Given the description of an element on the screen output the (x, y) to click on. 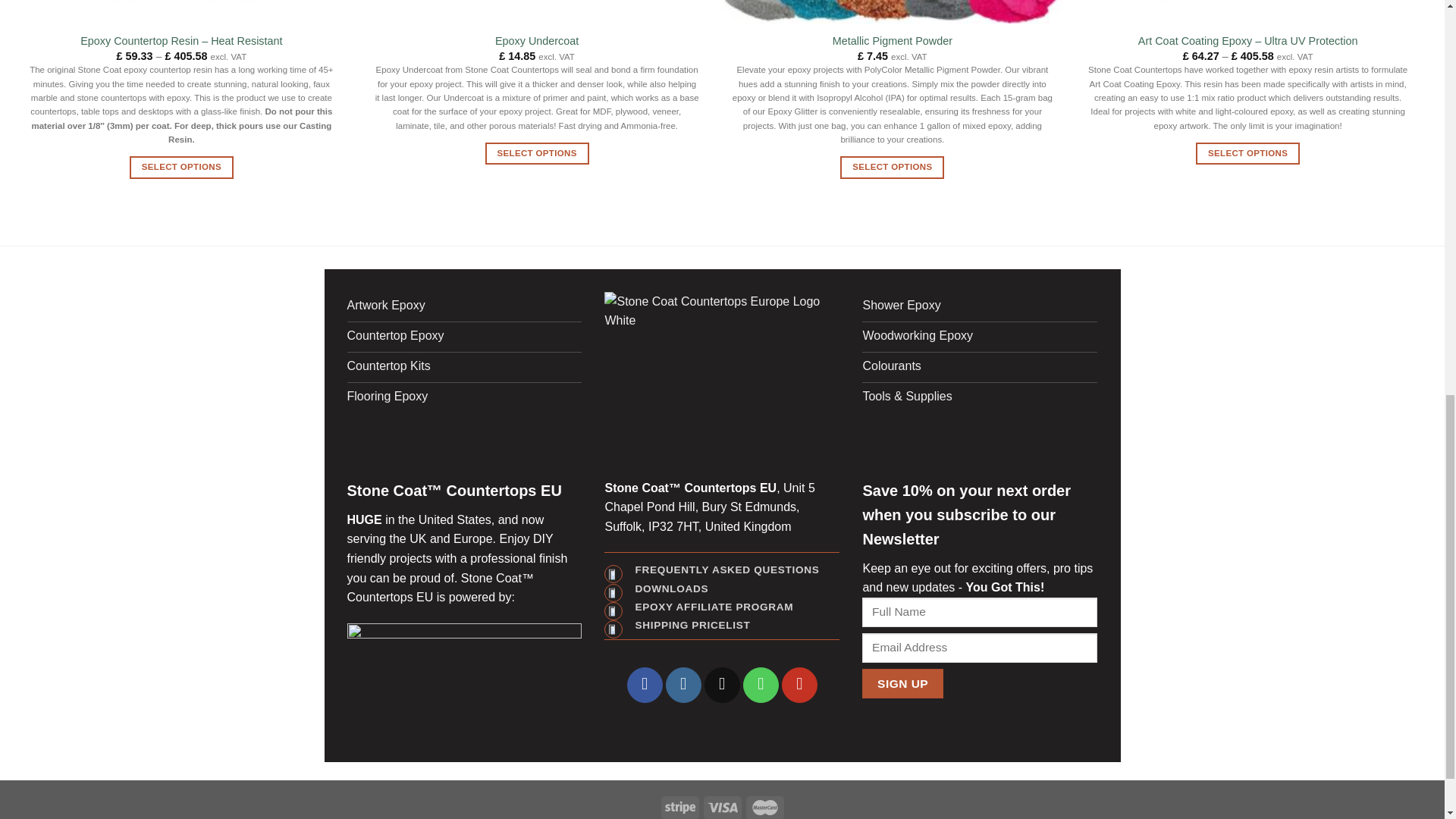
Send us an email (721, 684)
SELECT OPTIONS (536, 153)
Follow on YouTube (798, 684)
Follow on Facebook (644, 684)
SELECT OPTIONS (180, 167)
SELECT OPTIONS (891, 167)
Sign up (901, 683)
Epoxy Undercoat (536, 41)
Metallic Pigment Powder (892, 41)
Call us (760, 684)
